Given the description of an element on the screen output the (x, y) to click on. 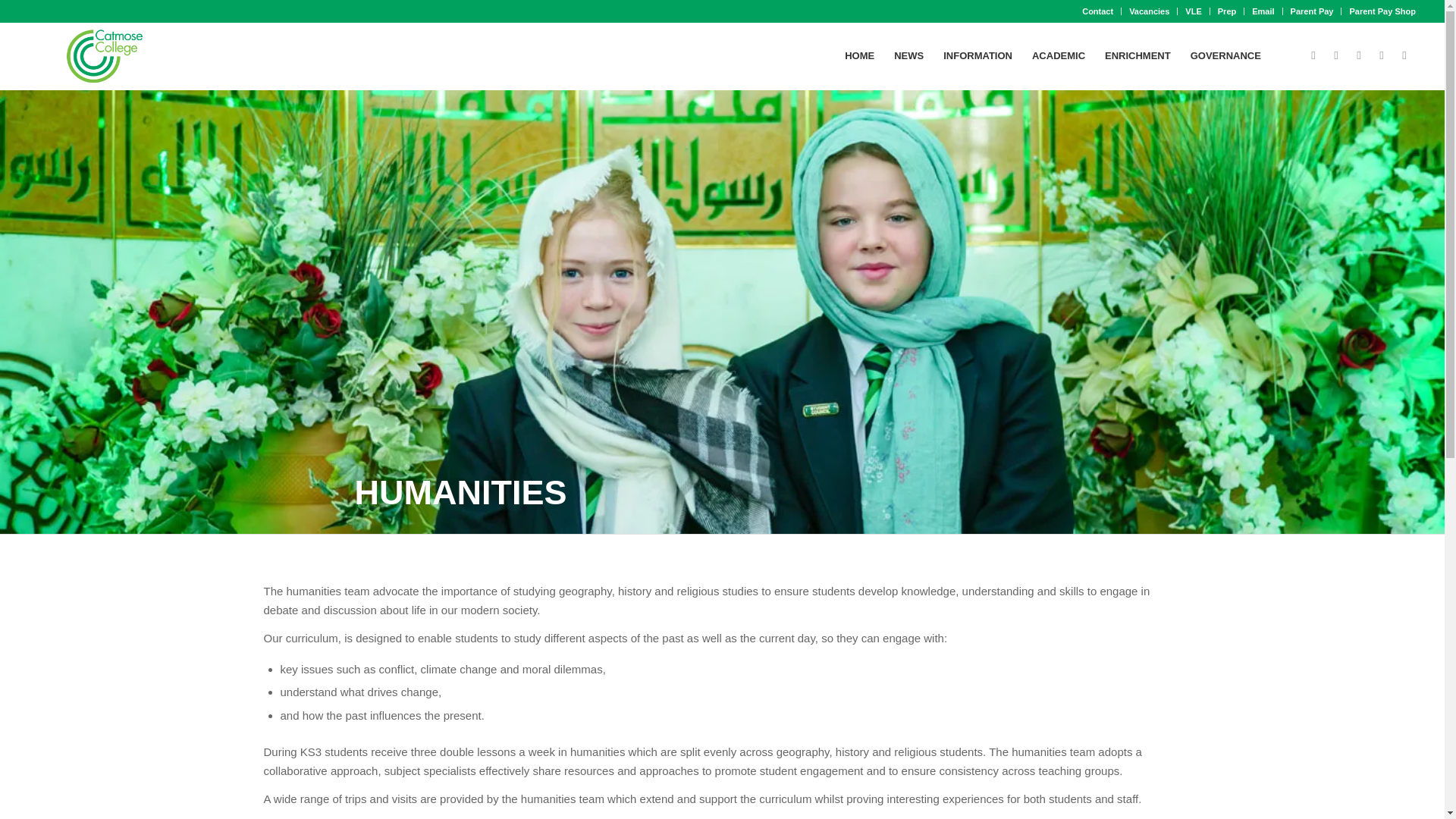
Prep (1226, 11)
Instagram (1336, 55)
INFORMATION (977, 56)
Contact (1097, 11)
Twitter (1359, 55)
Youtube (1381, 55)
ACADEMIC (1058, 56)
Vacancies (1149, 11)
Parent Pay (1311, 11)
Email (1263, 11)
